Given the description of an element on the screen output the (x, y) to click on. 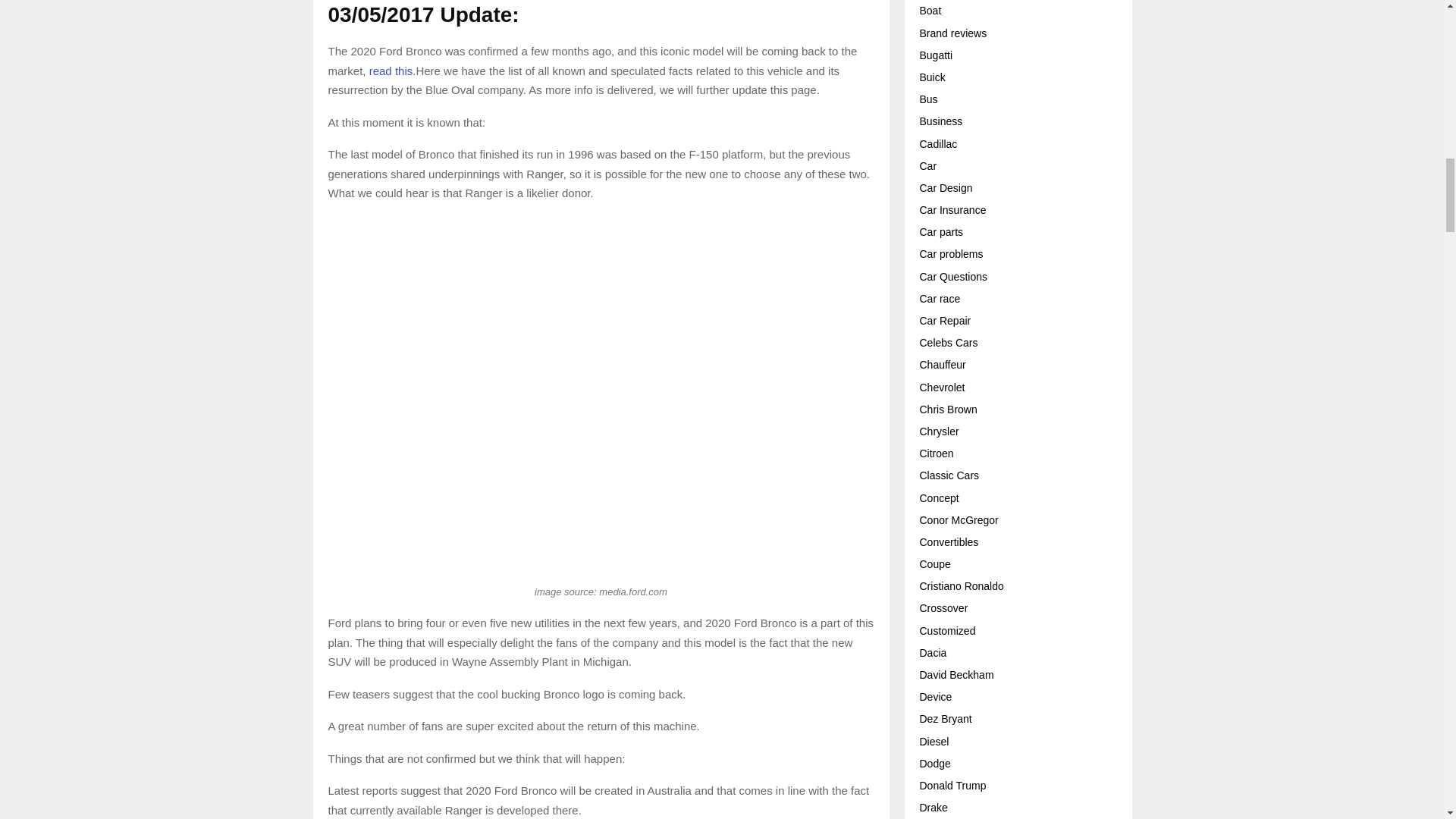
read this (391, 70)
